Given the description of an element on the screen output the (x, y) to click on. 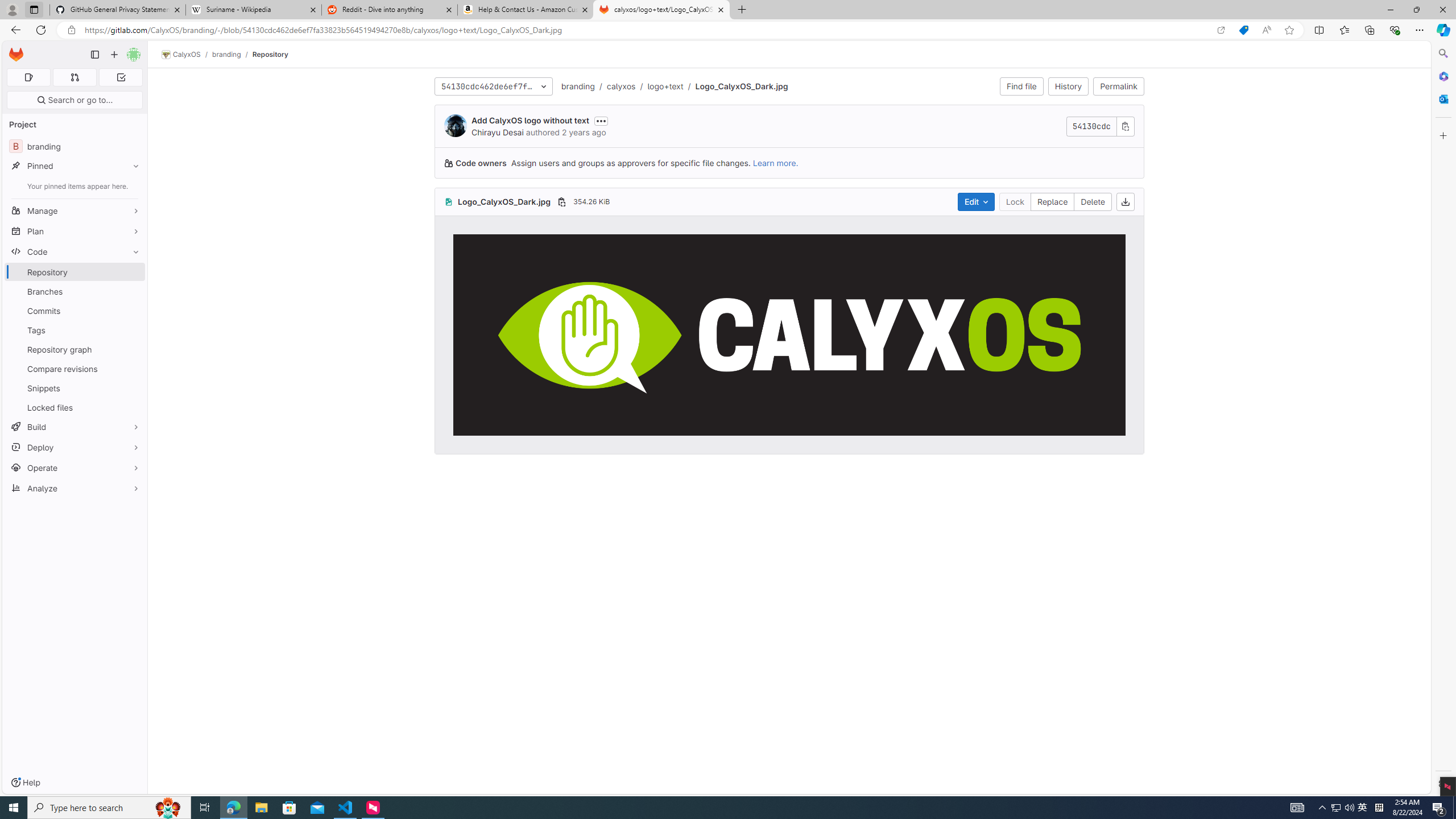
Tags (74, 330)
calyxos (620, 85)
Pin Tags (132, 329)
Replace (1051, 201)
branding/ (231, 53)
Analyze (74, 488)
Pinned (74, 165)
GitHub General Privacy Statement - GitHub Docs (117, 9)
Operate (74, 467)
